Given the description of an element on the screen output the (x, y) to click on. 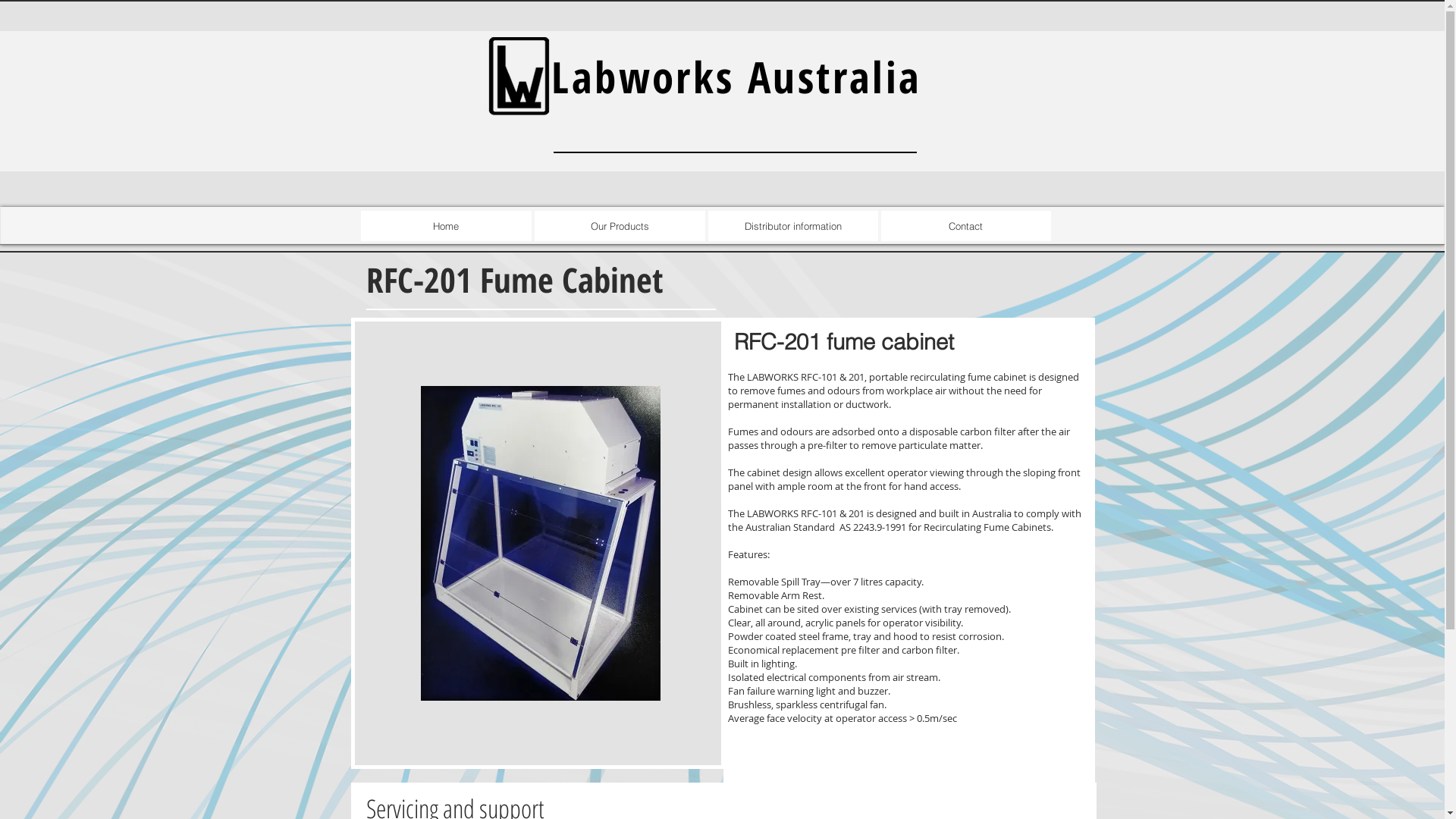
Distributor information Element type: text (793, 225)
Contact Element type: text (966, 225)
Home Element type: text (445, 225)
Our Products Element type: text (618, 225)
